Given the description of an element on the screen output the (x, y) to click on. 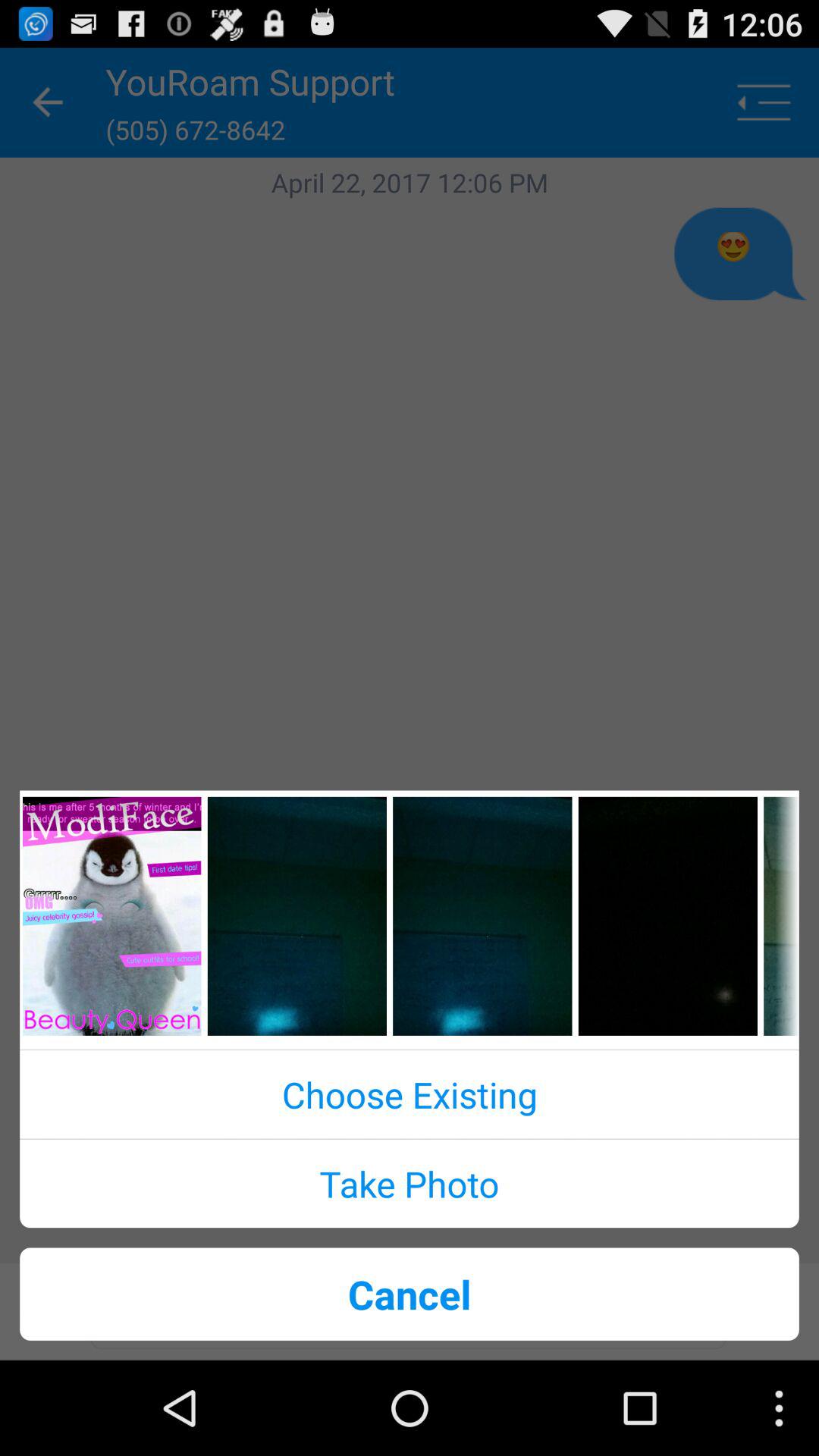
open the specific page (111, 915)
